Given the description of an element on the screen output the (x, y) to click on. 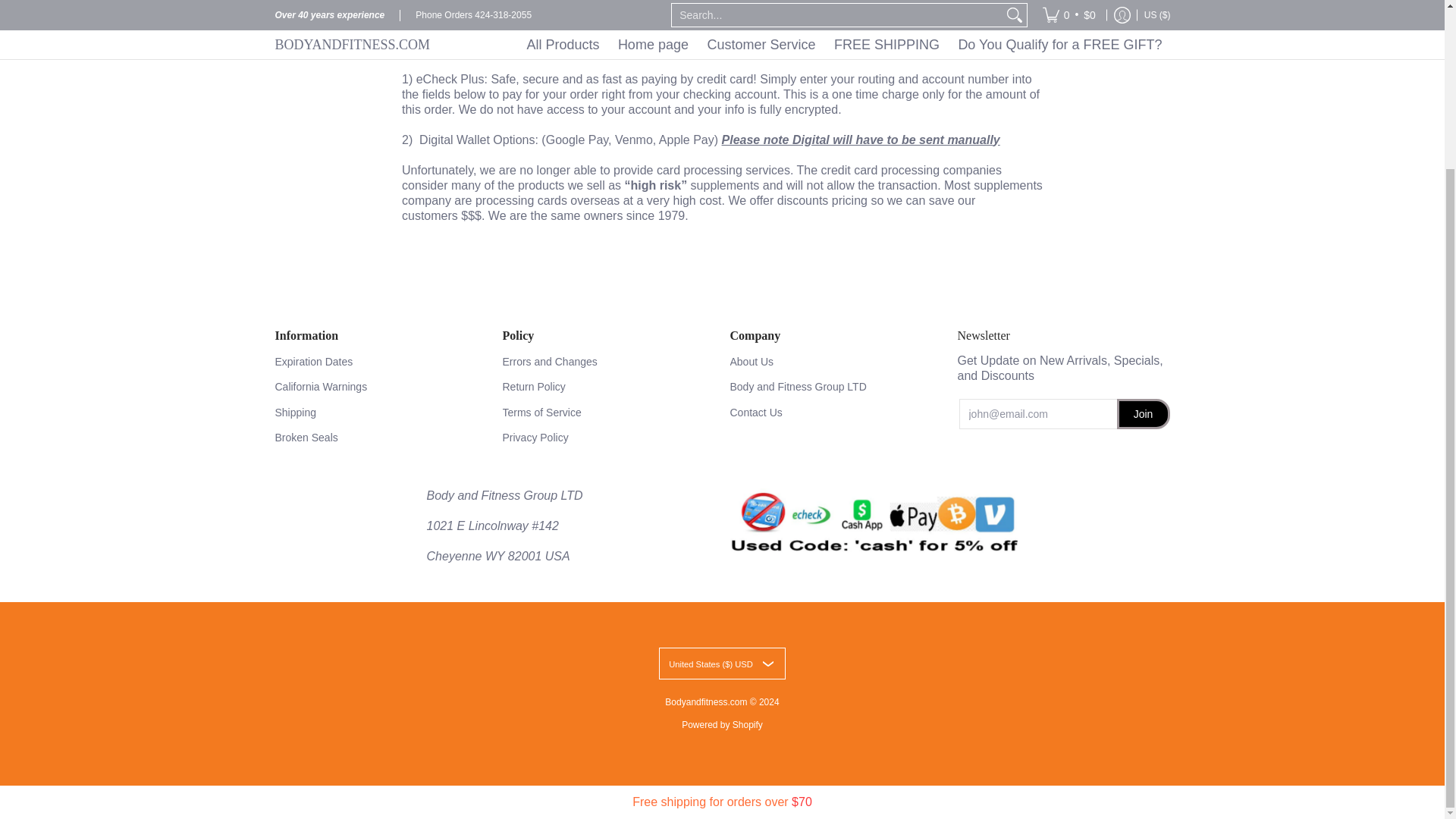
Shipping (380, 412)
Expiration Dates (380, 361)
California Warnings (380, 386)
Broken Seals (380, 437)
